Given the description of an element on the screen output the (x, y) to click on. 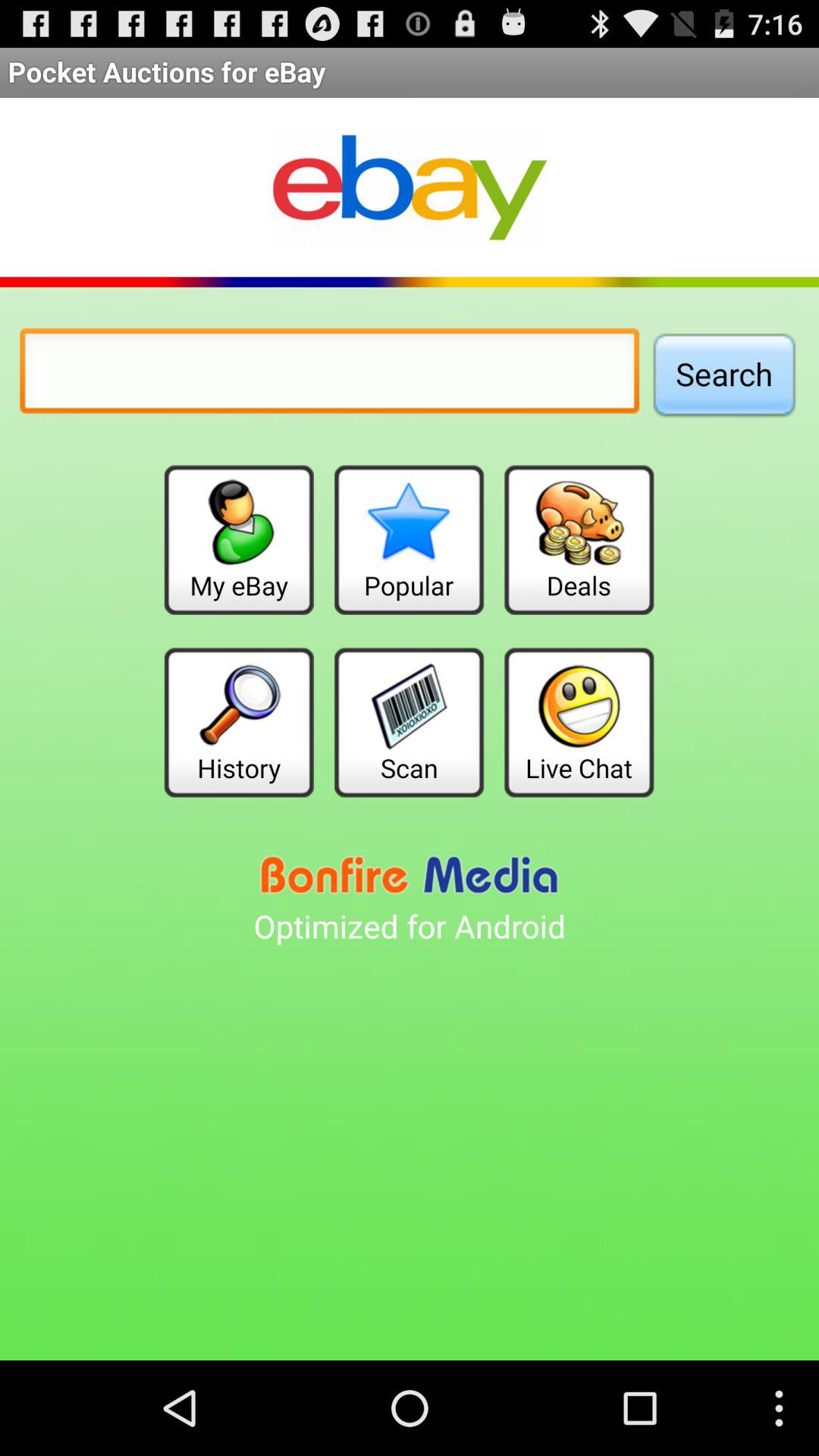
open button to the left of popular icon (238, 539)
